Given the description of an element on the screen output the (x, y) to click on. 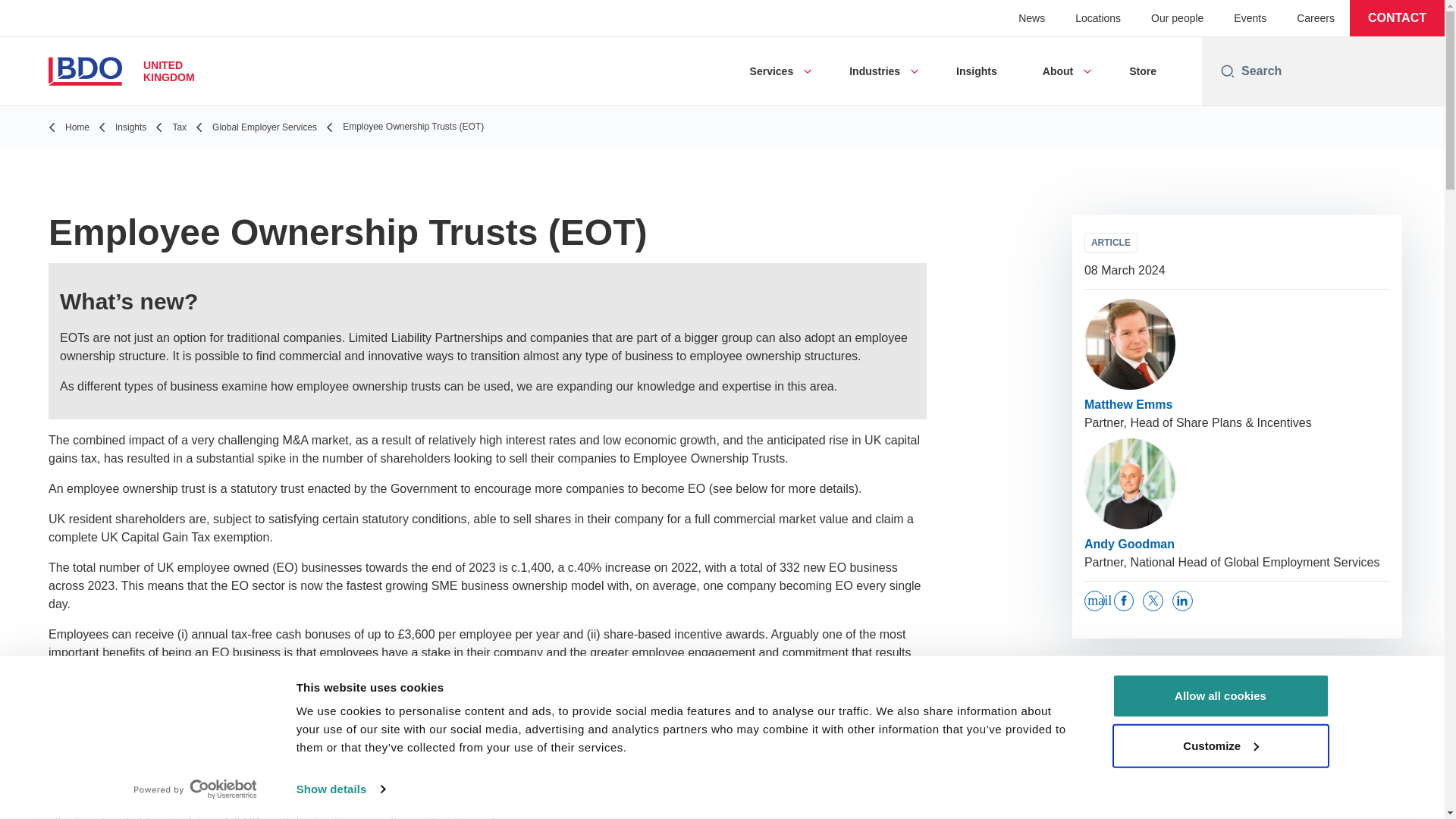
Show details (340, 789)
